Given the description of an element on the screen output the (x, y) to click on. 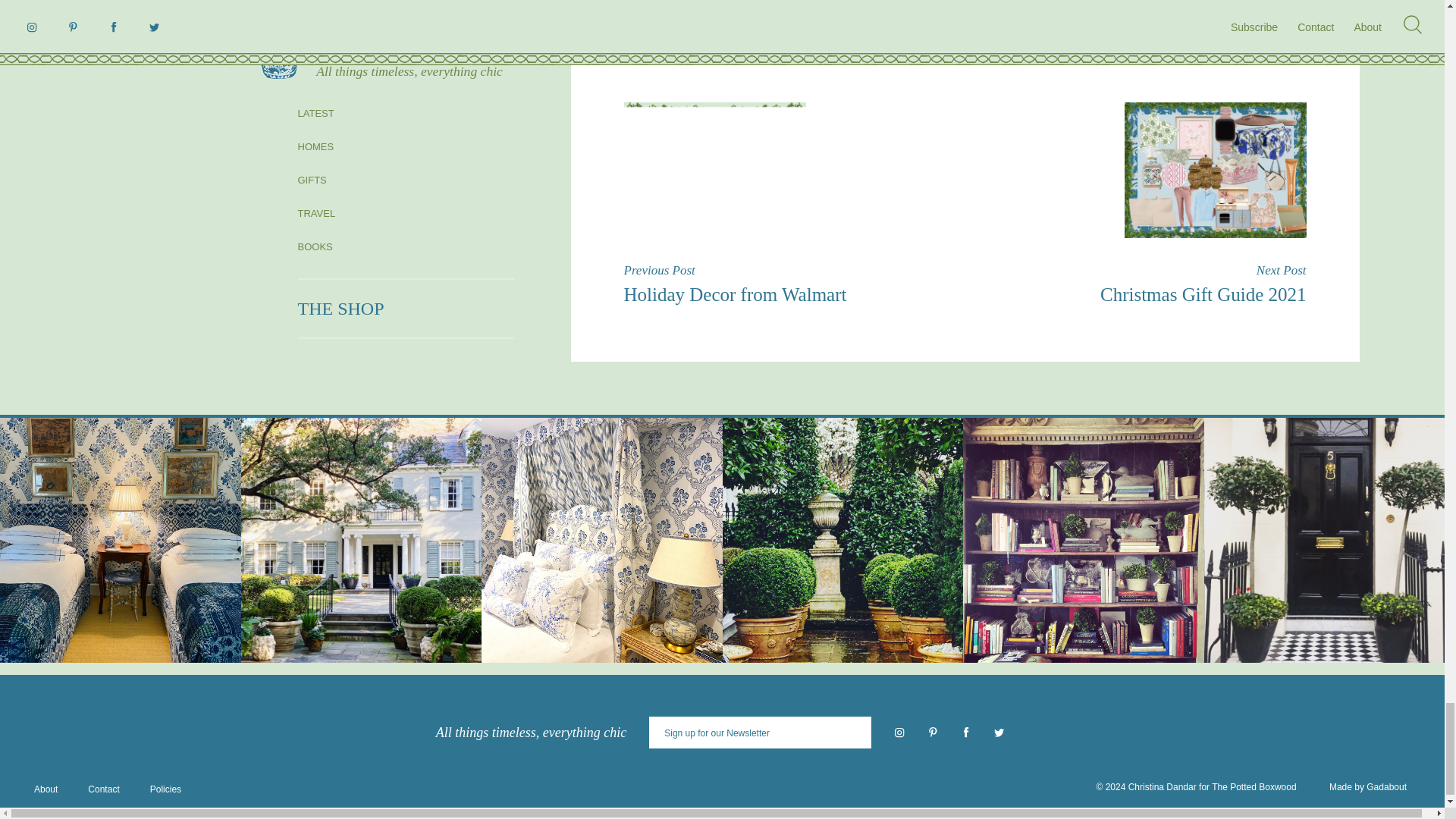
Subscribe (855, 732)
